Given the description of an element on the screen output the (x, y) to click on. 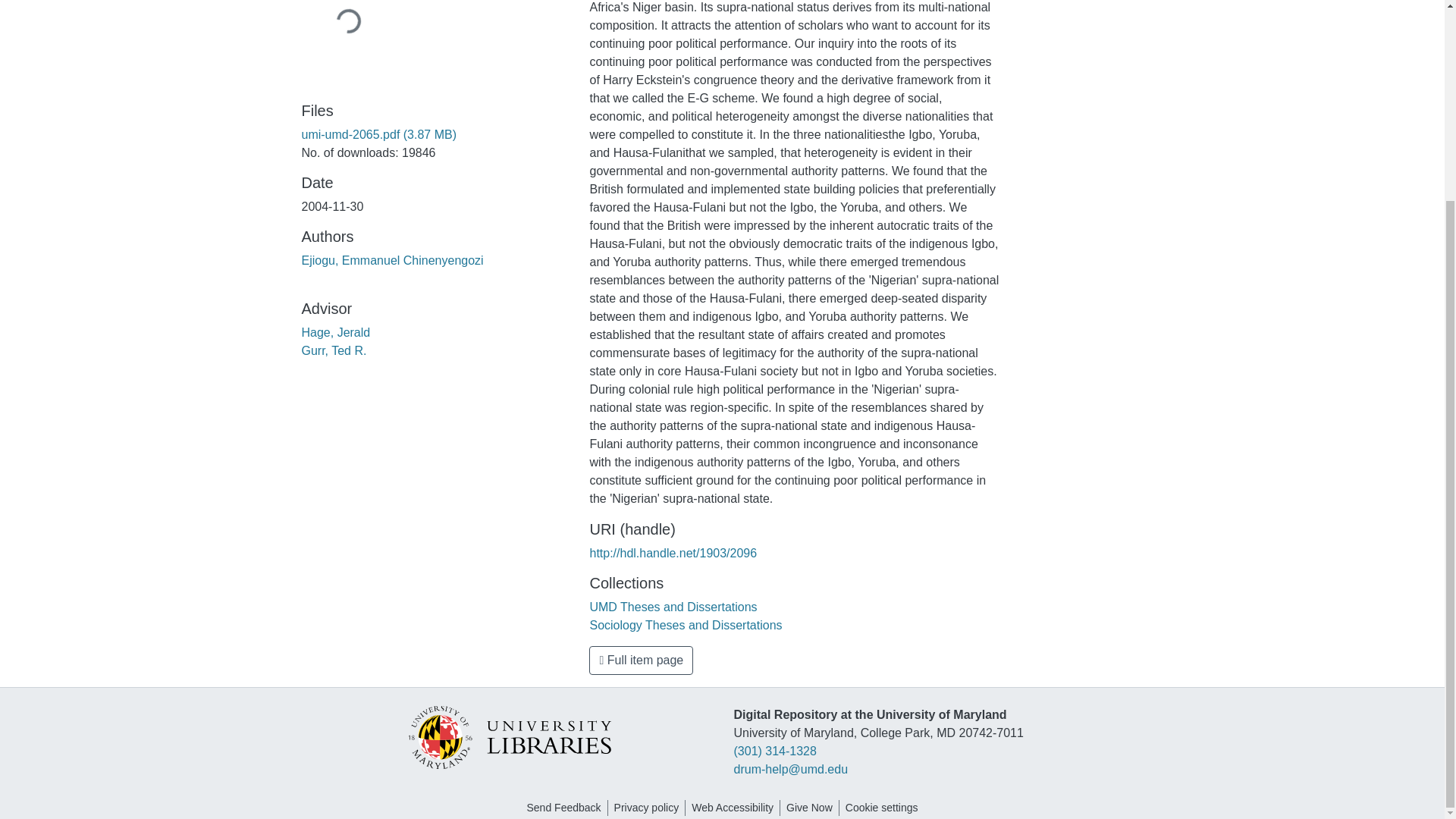
Sociology Theses and Dissertations (685, 625)
Libraries Home Page (508, 736)
Cookie settings (882, 807)
UMD Theses and Dissertations (673, 606)
Give Now (809, 807)
Ejiogu, Emmanuel Chinenyengozi (392, 259)
Send Feedback (563, 807)
Full item page (641, 660)
Gurr, Ted R. (333, 350)
Hage, Jerald (336, 332)
